Given the description of an element on the screen output the (x, y) to click on. 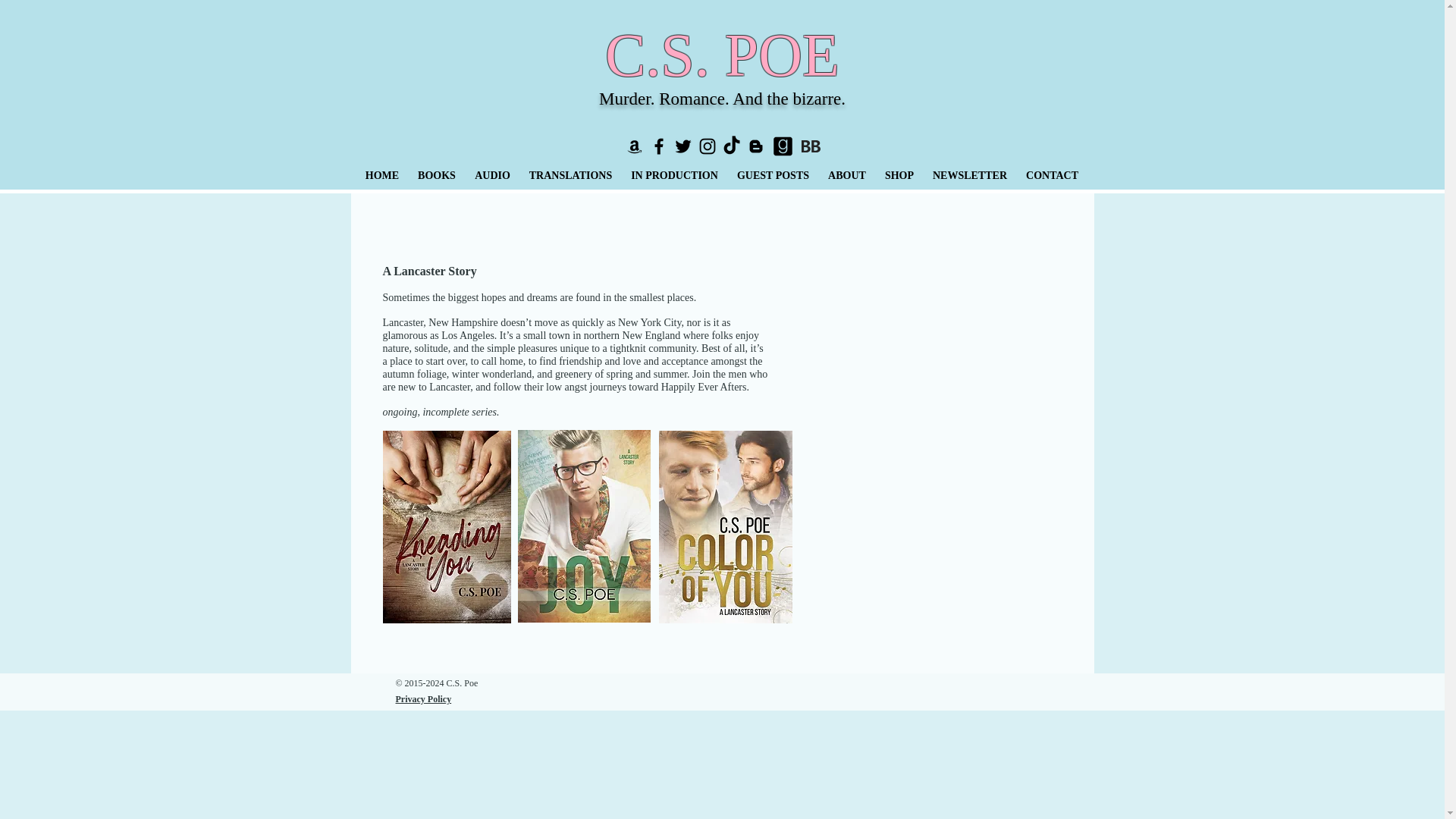
IN PRODUCTION (674, 175)
HOME (382, 175)
CONTACT (1051, 175)
GUEST POSTS (773, 175)
NEWSLETTER (969, 175)
SHOP (899, 175)
BOOKS (435, 175)
AUDIO (492, 175)
ABOUT (847, 175)
Privacy Policy (423, 698)
